Given the description of an element on the screen output the (x, y) to click on. 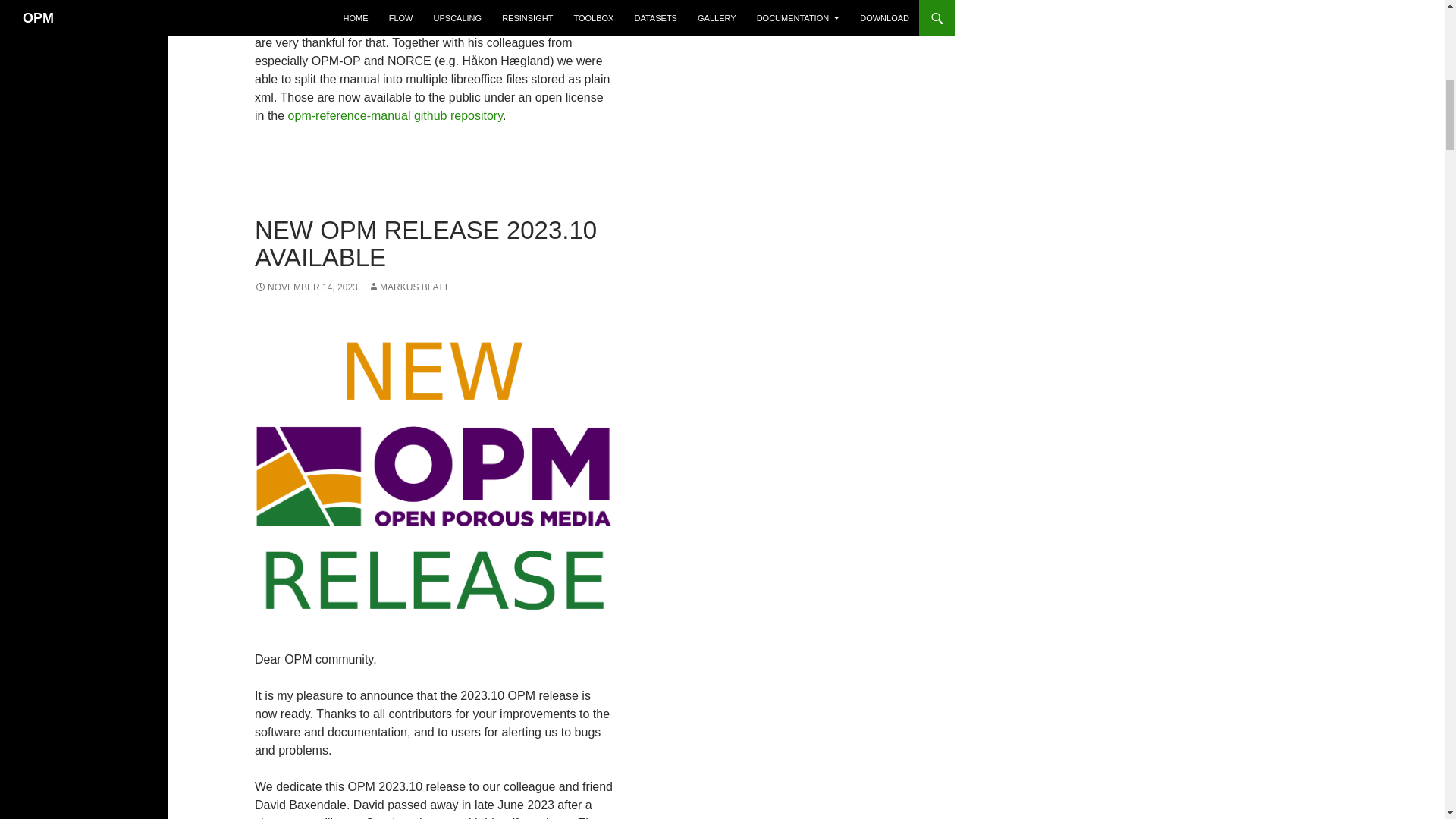
NEW OPM RELEASE 2023.10 AVAILABLE (425, 243)
MARKUS BLATT (408, 286)
opm-reference-manual github repository (395, 115)
NOVEMBER 14, 2023 (306, 286)
